Given the description of an element on the screen output the (x, y) to click on. 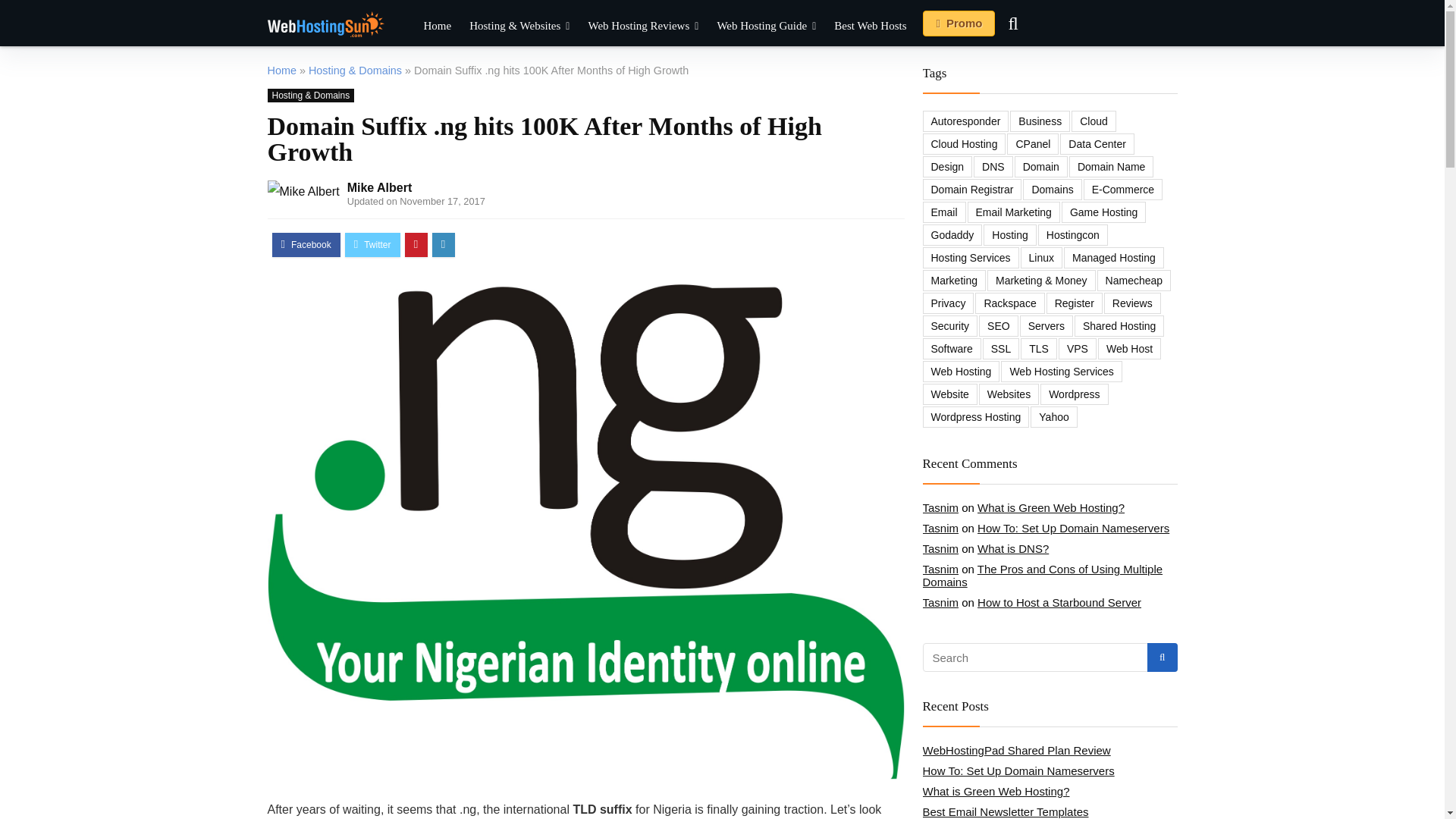
Promo (958, 23)
Web Hosting Reviews (642, 25)
Web Hosting Resources and Reviews (436, 25)
Web Hosting Guide (766, 25)
Mike Albert (379, 187)
Best Web Hosts (870, 25)
Home (280, 70)
Home (436, 25)
